Given the description of an element on the screen output the (x, y) to click on. 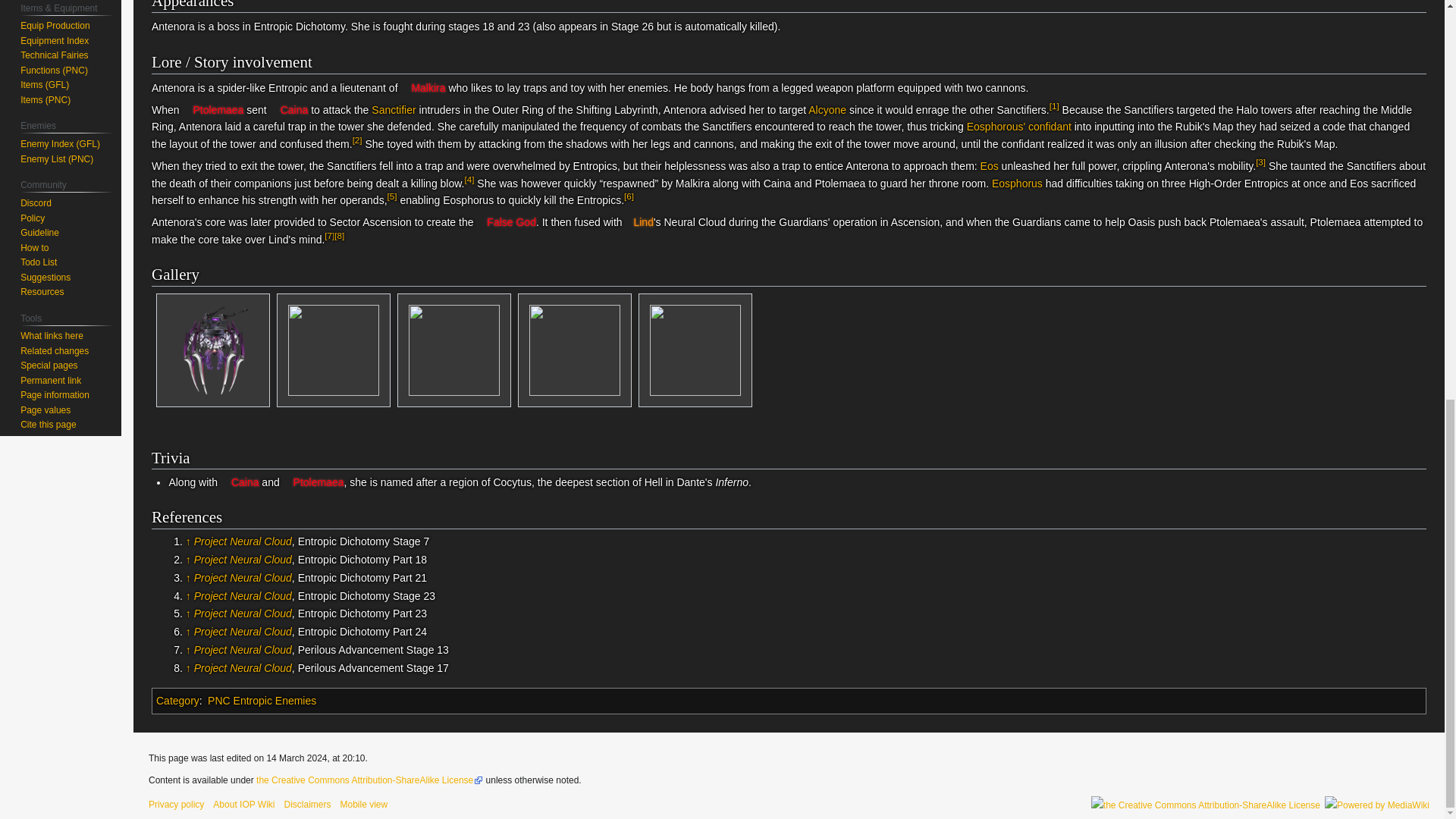
Eosphorus (1016, 183)
Alcyone (826, 110)
Ptolemaea (212, 110)
Malkira (422, 87)
Caina (288, 110)
Malkira (422, 87)
Sanctifier (392, 110)
False God (505, 222)
Minor Characters (1018, 126)
Eosphorous' confidant (1018, 126)
Caina (288, 110)
Eos (988, 165)
Alcyone (826, 110)
Lind (638, 222)
Ptolemaea (212, 110)
